Given the description of an element on the screen output the (x, y) to click on. 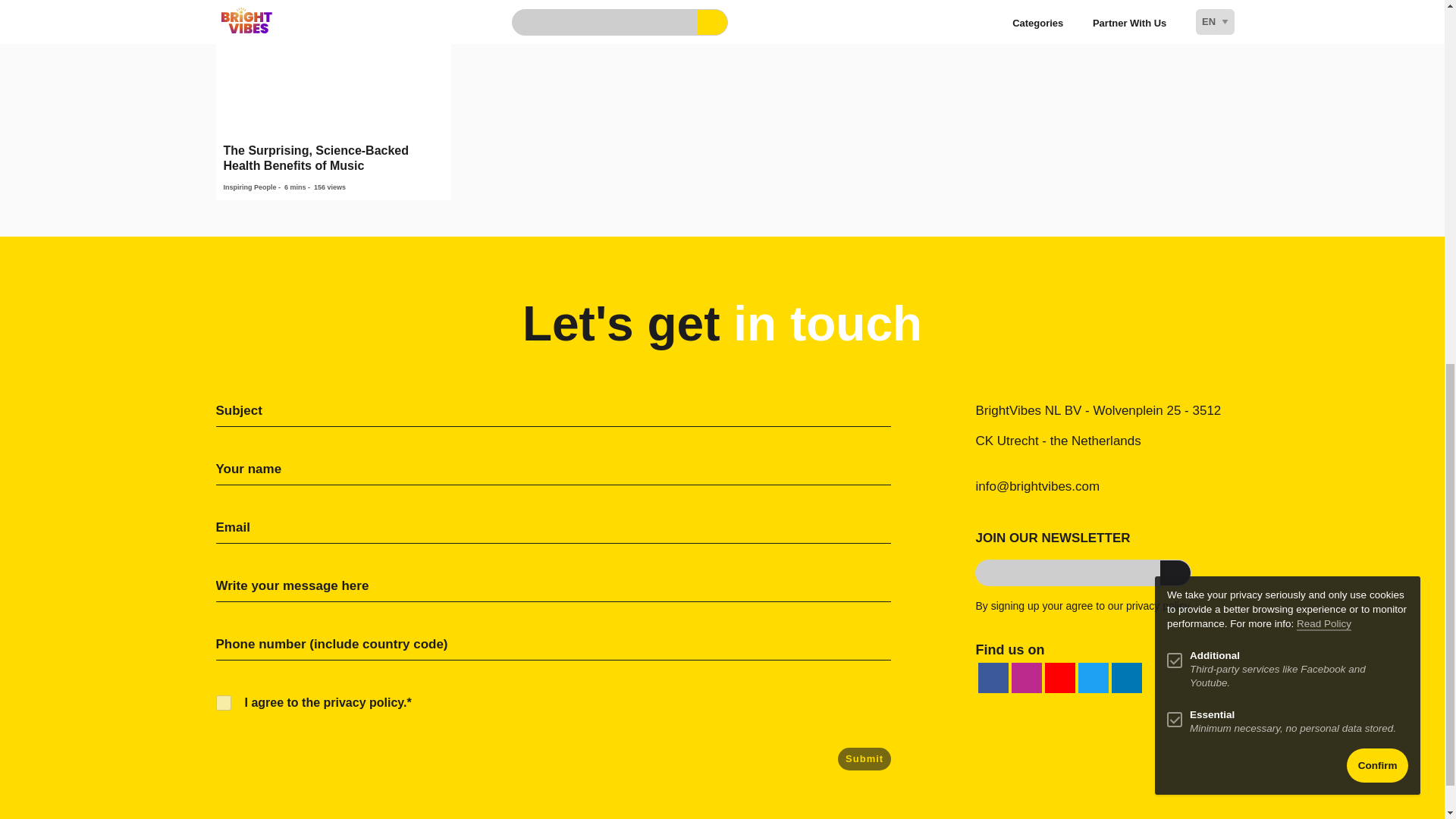
Submit (864, 758)
1 (222, 702)
privacy policy (1157, 605)
Submit (864, 758)
